Given the description of an element on the screen output the (x, y) to click on. 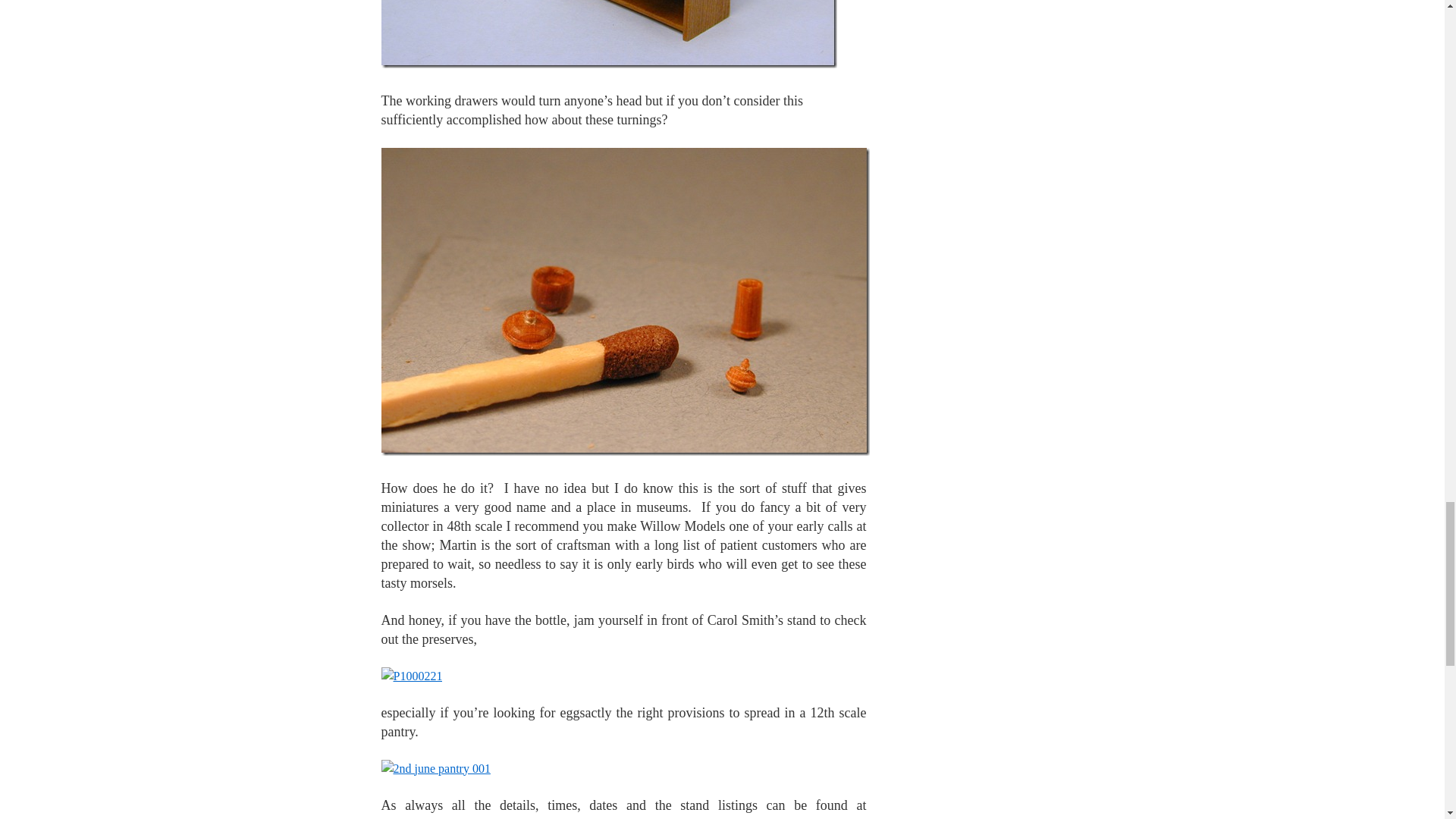
P1000221 (411, 676)
2nd june pantry 001 (434, 769)
www.miniatura.co.uk (438, 817)
